Given the description of an element on the screen output the (x, y) to click on. 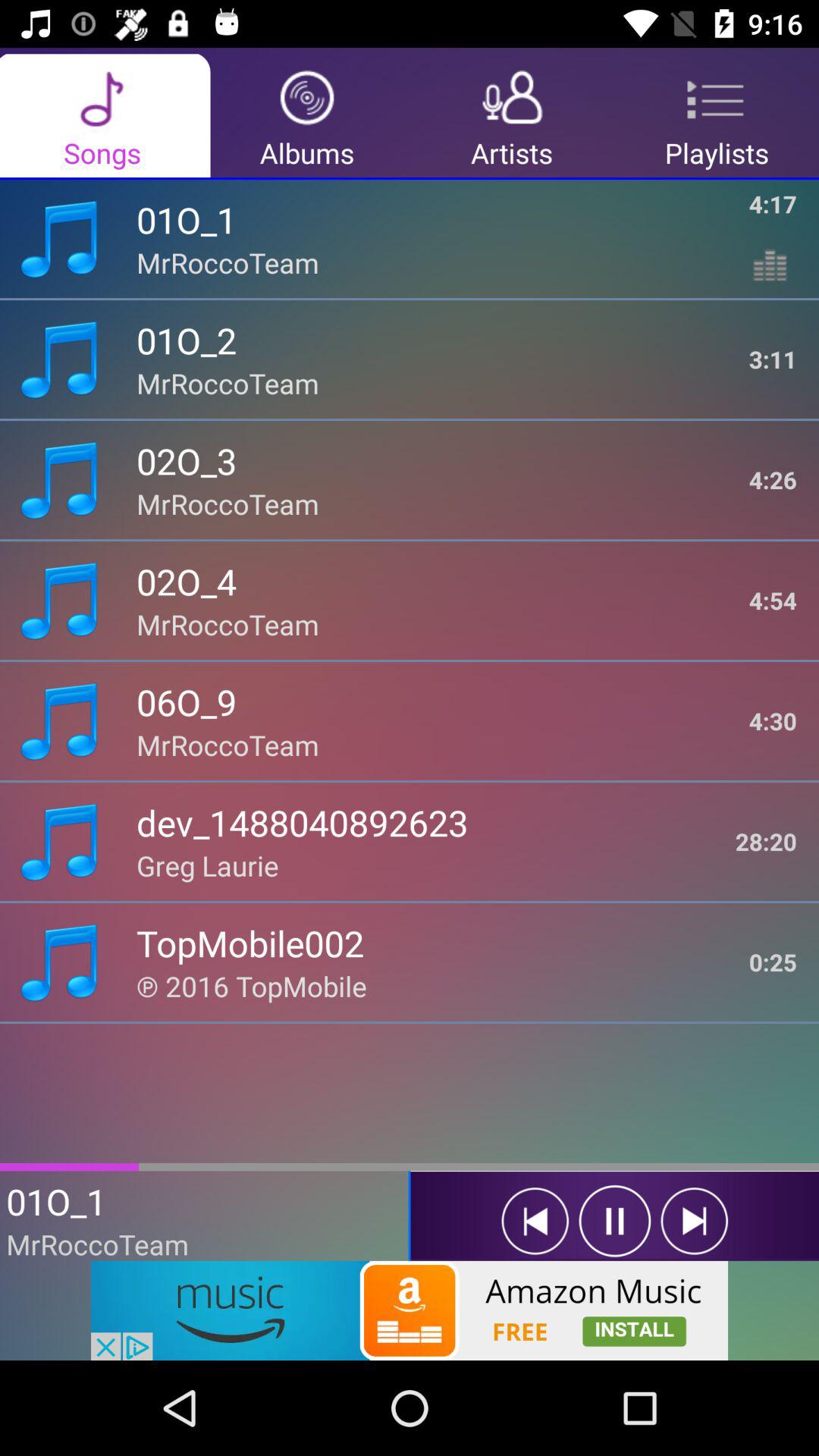
pause (614, 1220)
